Given the description of an element on the screen output the (x, y) to click on. 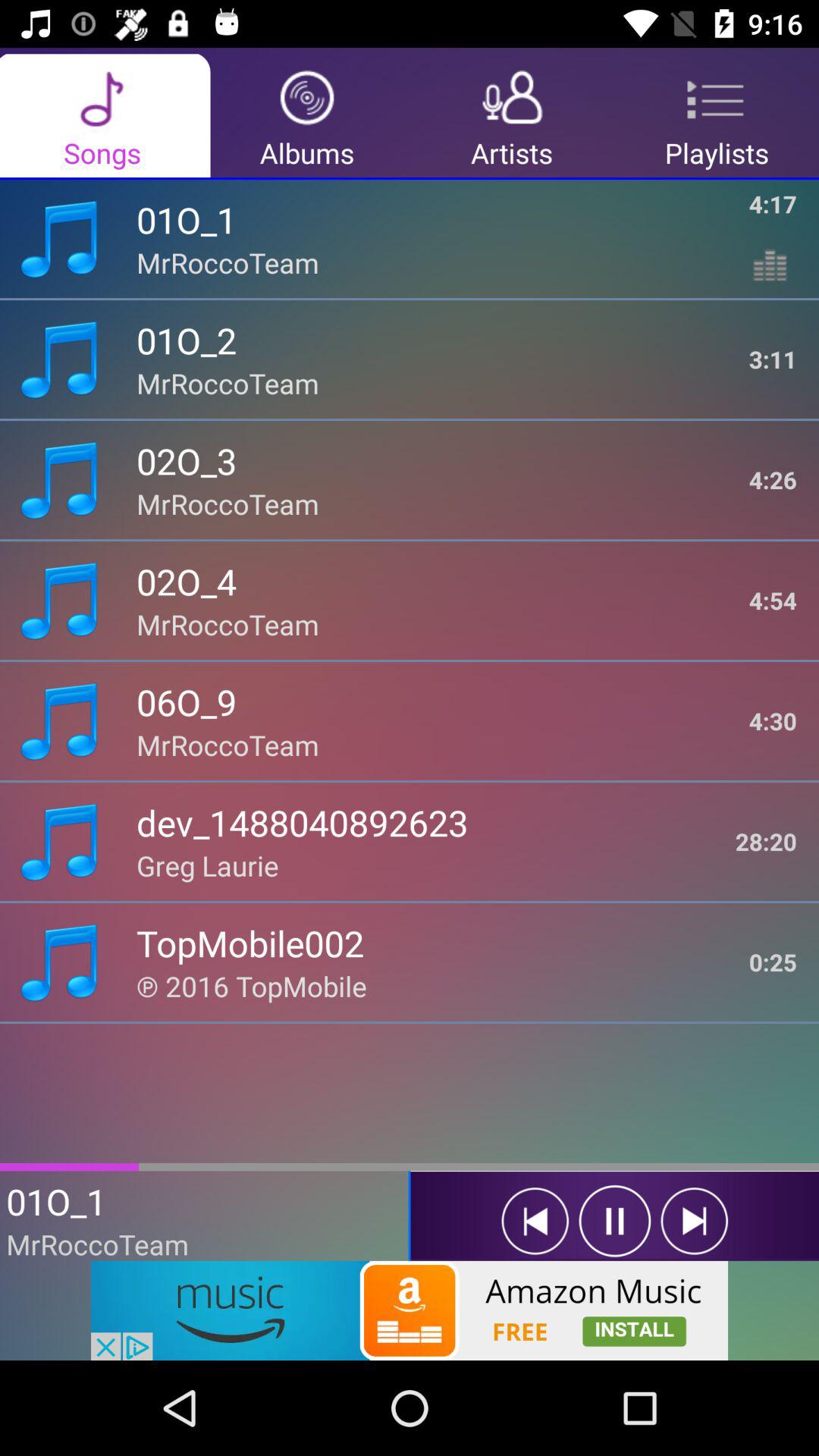
pause (614, 1220)
